Given the description of an element on the screen output the (x, y) to click on. 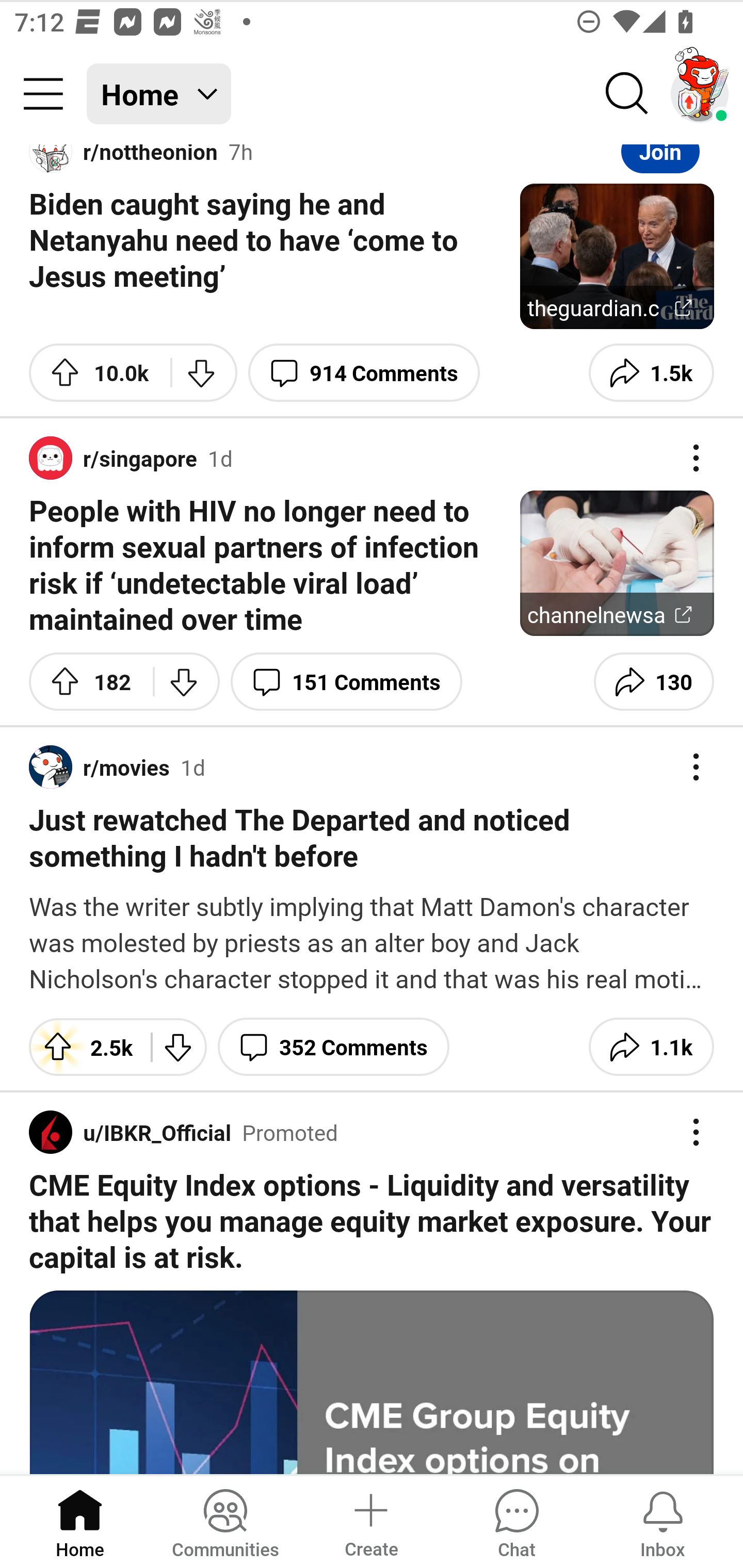
Community menu (43, 93)
Home Home feed (158, 93)
Search (626, 93)
TestAppium002 account (699, 93)
Home (80, 1520)
Communities (225, 1520)
Create a post Create (370, 1520)
Chat (516, 1520)
Inbox (662, 1520)
